Given the description of an element on the screen output the (x, y) to click on. 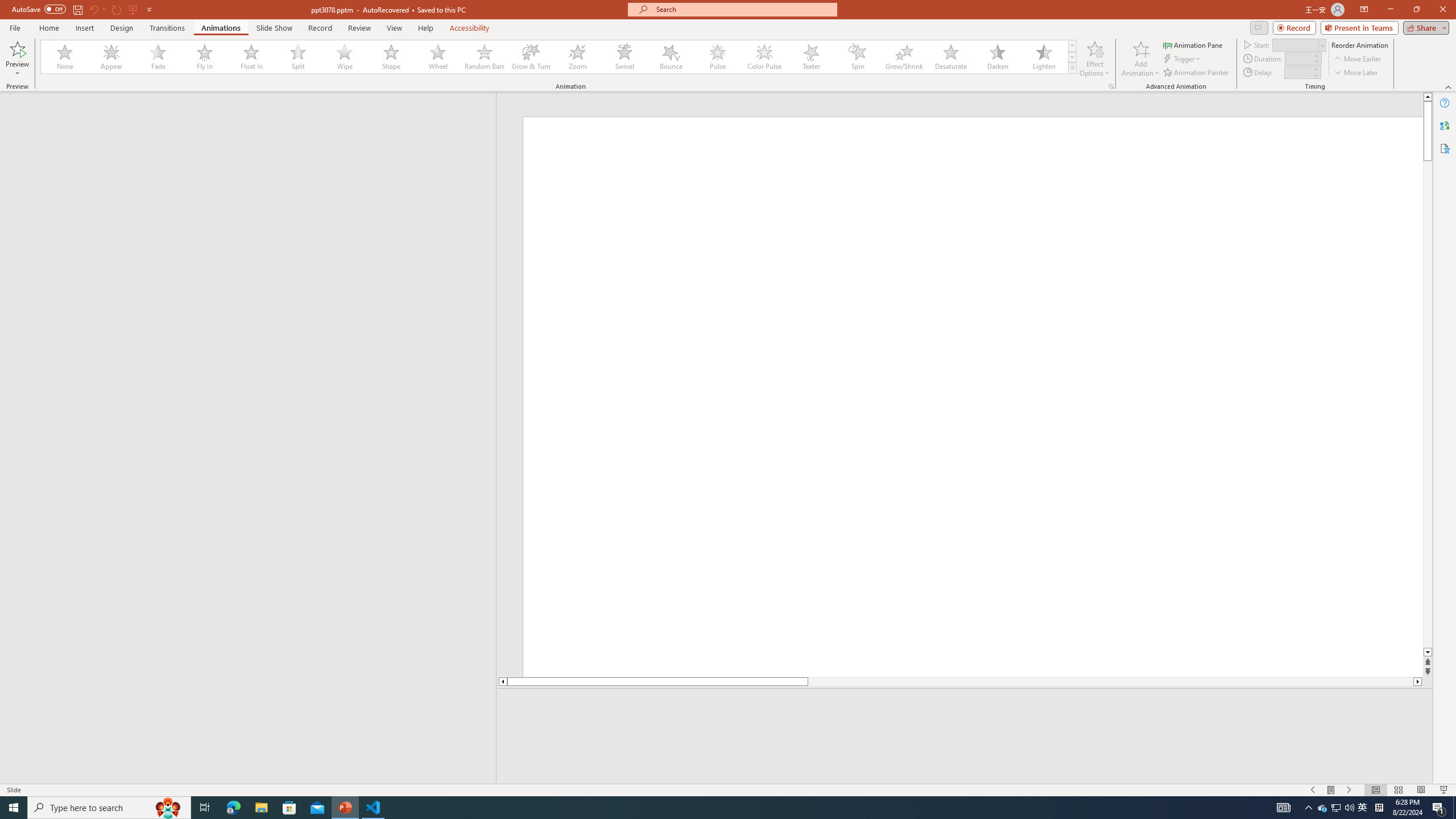
Float In (251, 56)
Appear (111, 56)
Grow/Shrink (903, 56)
Add Animation (1141, 58)
Animation Styles (1071, 67)
Menu On (1331, 790)
Grow & Turn (531, 56)
